Given the description of an element on the screen output the (x, y) to click on. 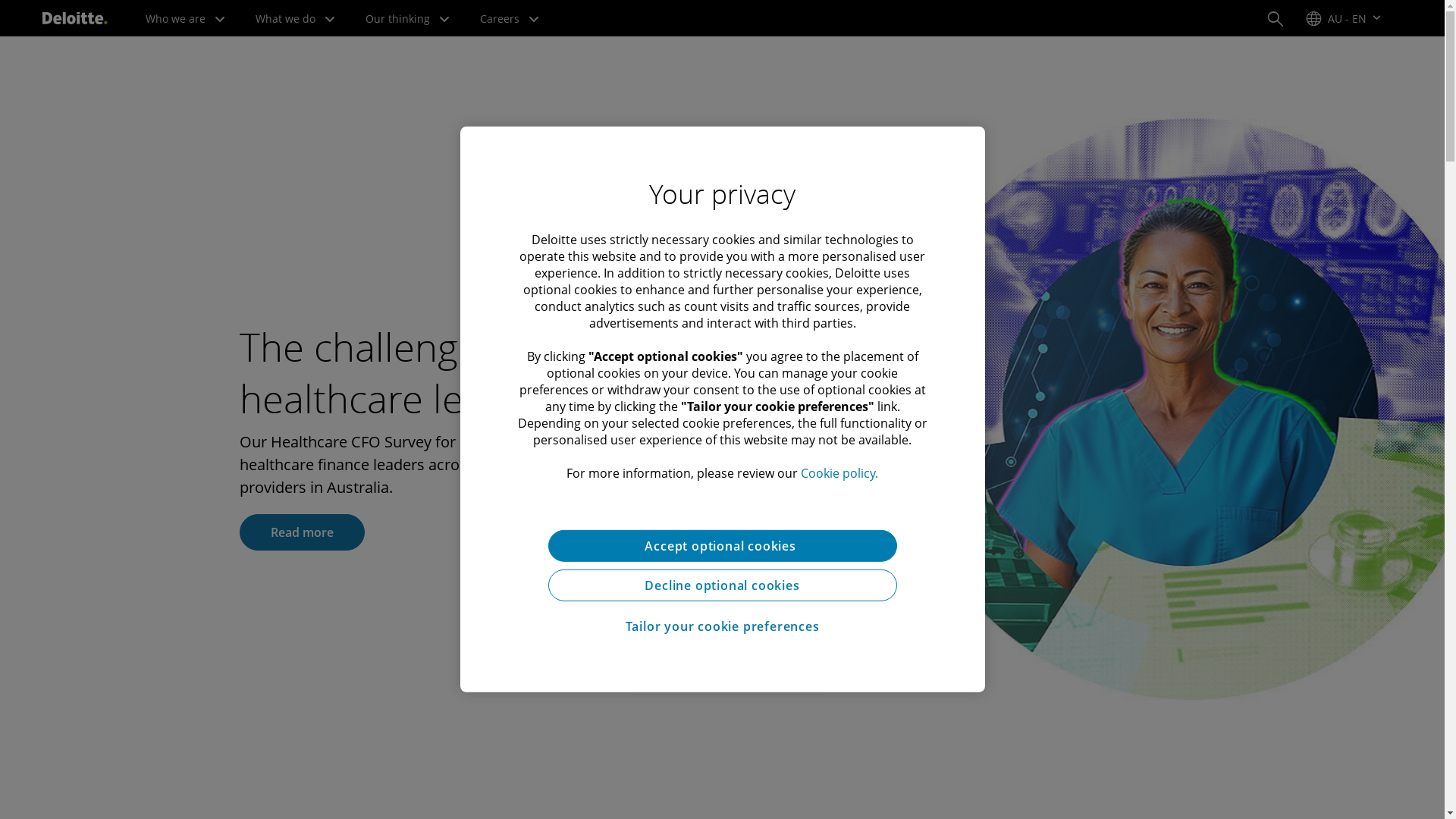
Our thinking Element type: text (407, 18)
Read more Element type: text (302, 531)
Decline optional cookies Element type: text (721, 585)
Accept optional cookies  Element type: text (721, 545)
Careers Element type: text (509, 18)
What we do Element type: text (295, 18)
AU - EN Element type: text (1342, 18)
Deloitte Element type: hover (74, 18)
Cookie policy. Element type: text (839, 472)
Who we are Element type: text (185, 18)
Tailor your cookie preferences Element type: text (721, 625)
